Given the description of an element on the screen output the (x, y) to click on. 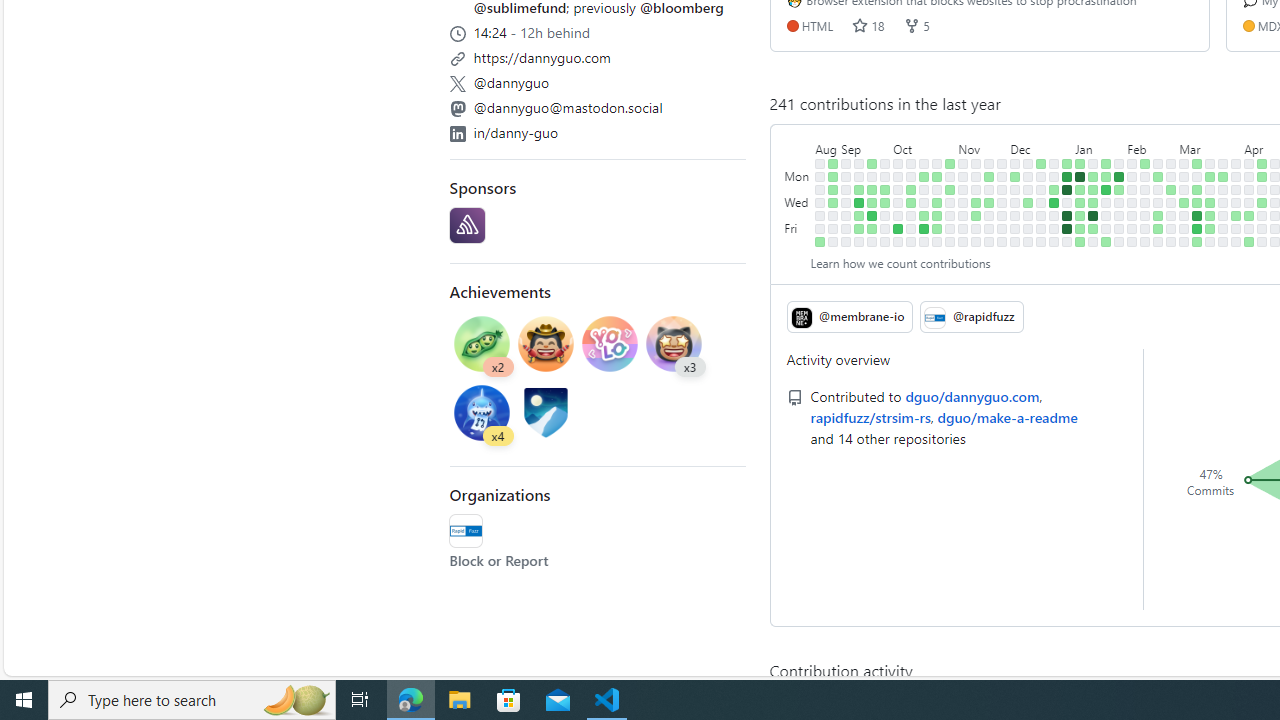
5 contributions on October 6th. (898, 228)
1 contribution on January 11th. (1080, 215)
2 contributions on January 12th. (1080, 228)
https://dannyguo.com (542, 57)
5 contributions on January 23rd. (1106, 189)
@getsentry (467, 225)
23 contributions on January 2nd. (1067, 189)
Tuesday (797, 189)
No contributions on October 1st. (898, 163)
9 contributions on January 29th. (1119, 176)
No contributions on February 4th. (1131, 163)
November (982, 145)
No contributions on April 10th. (1249, 202)
@dannyguo@mastodon.social (597, 105)
No contributions on November 14th. (976, 189)
